Given the description of an element on the screen output the (x, y) to click on. 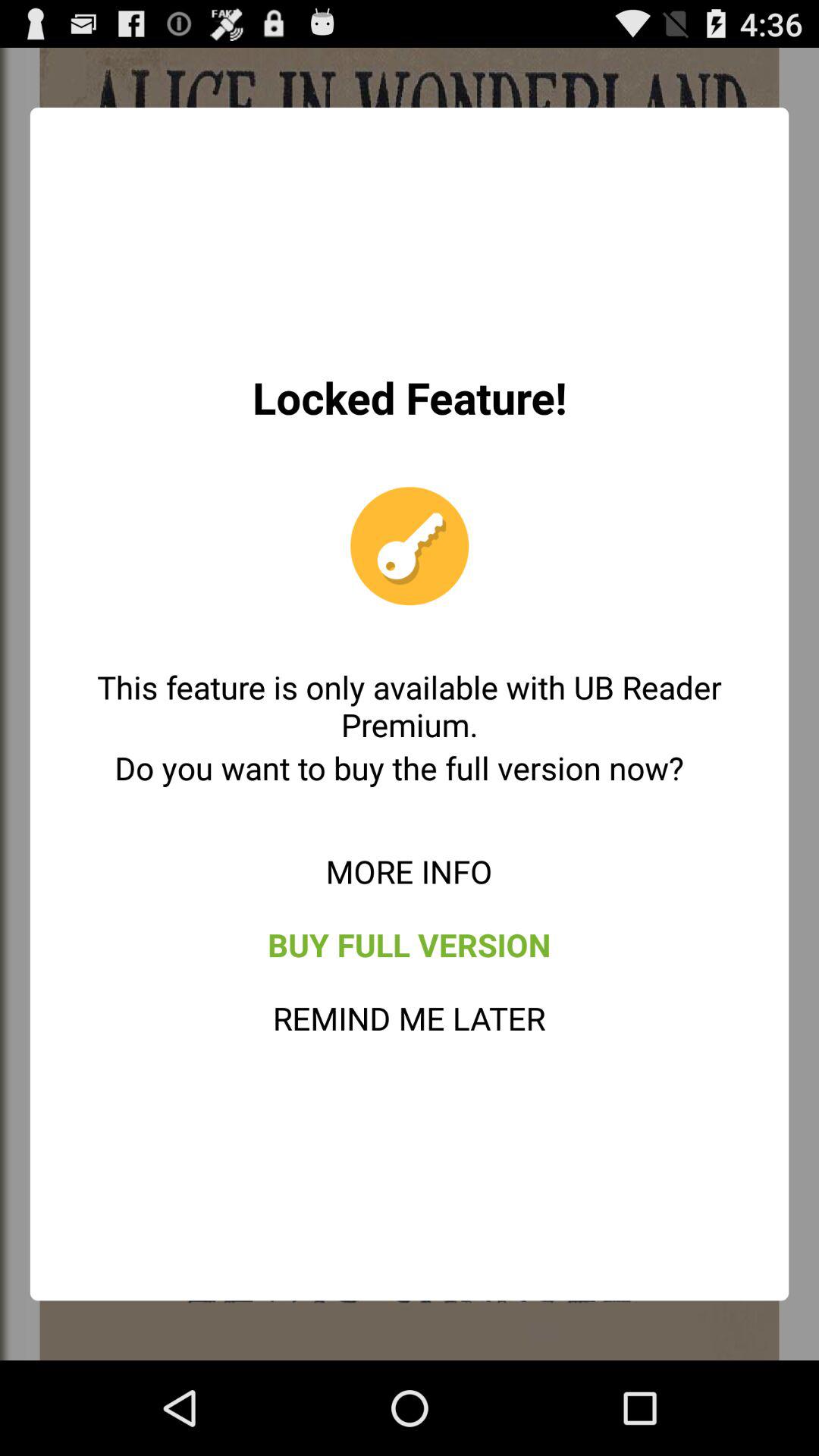
flip until the more info item (408, 870)
